Given the description of an element on the screen output the (x, y) to click on. 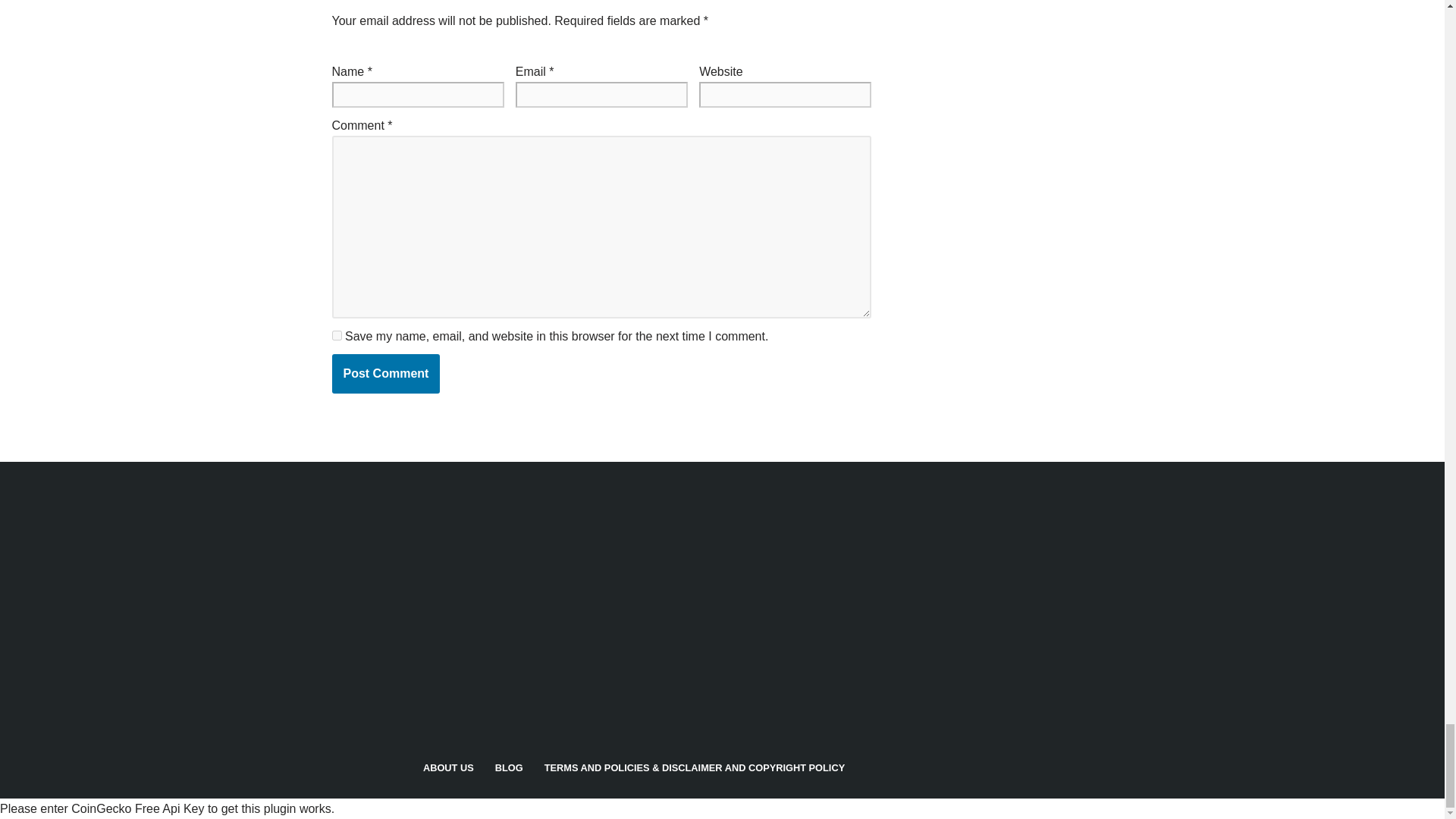
ABOUT US (448, 767)
BLOG (508, 767)
yes (336, 335)
Post Comment (386, 373)
Post Comment (386, 373)
